Given the description of an element on the screen output the (x, y) to click on. 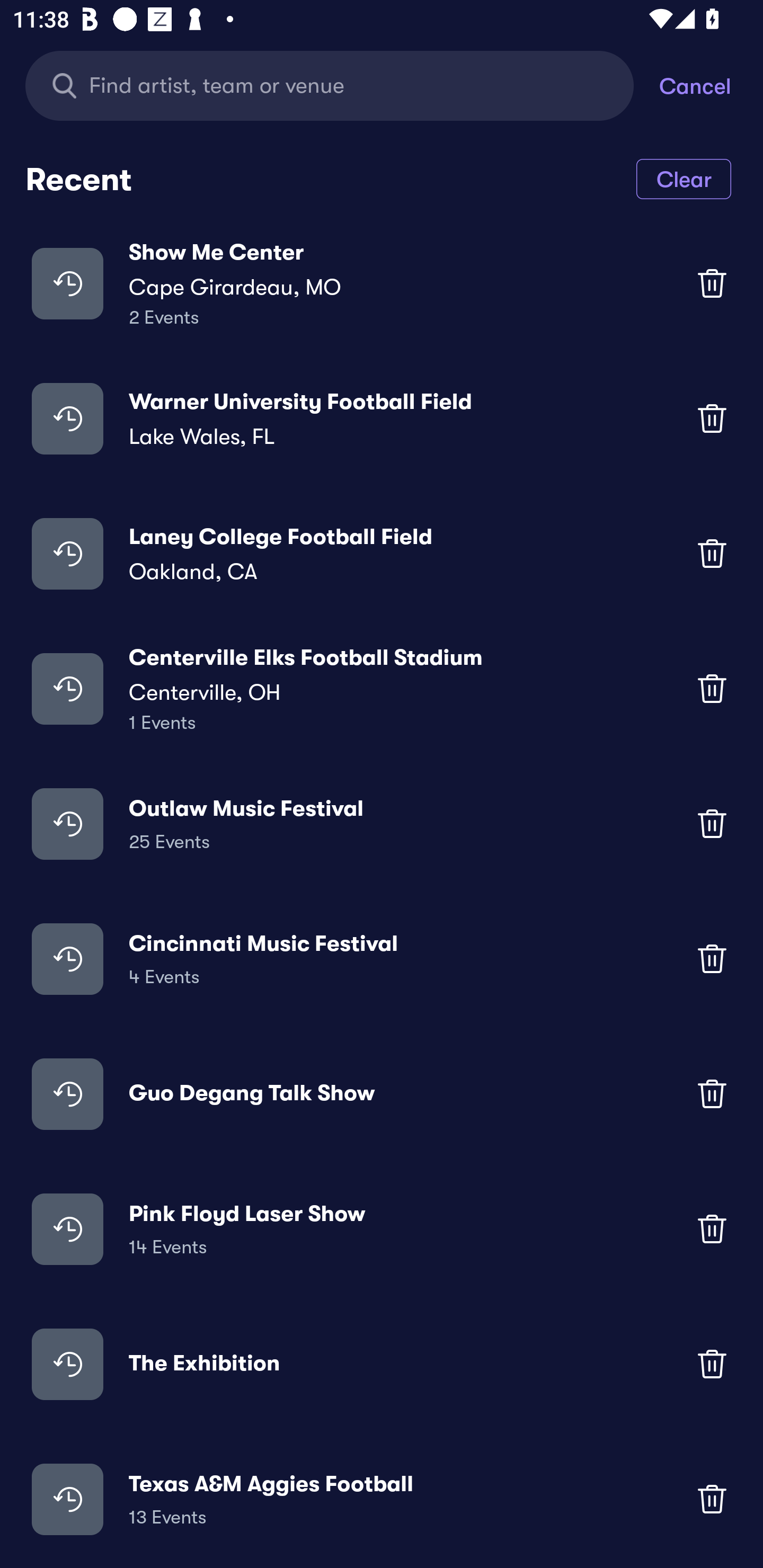
Find artist, team or venue Find (329, 85)
Find artist, team or venue Find (342, 85)
Cancel (711, 85)
Clear (683, 178)
Show Me Center Cape Girardeau, MO 2 Events (381, 282)
Warner University Football Field Lake Wales, FL (381, 417)
Laney College Football Field Oakland, CA (381, 553)
Outlaw Music Festival 25 Events (381, 823)
Cincinnati Music Festival 4 Events (381, 958)
Guo Degang Talk Show (381, 1093)
Pink Floyd Laser Show 14 Events (381, 1228)
The Exhibition (381, 1364)
Texas A&M Aggies Football 13 Events (381, 1498)
